Given the description of an element on the screen output the (x, y) to click on. 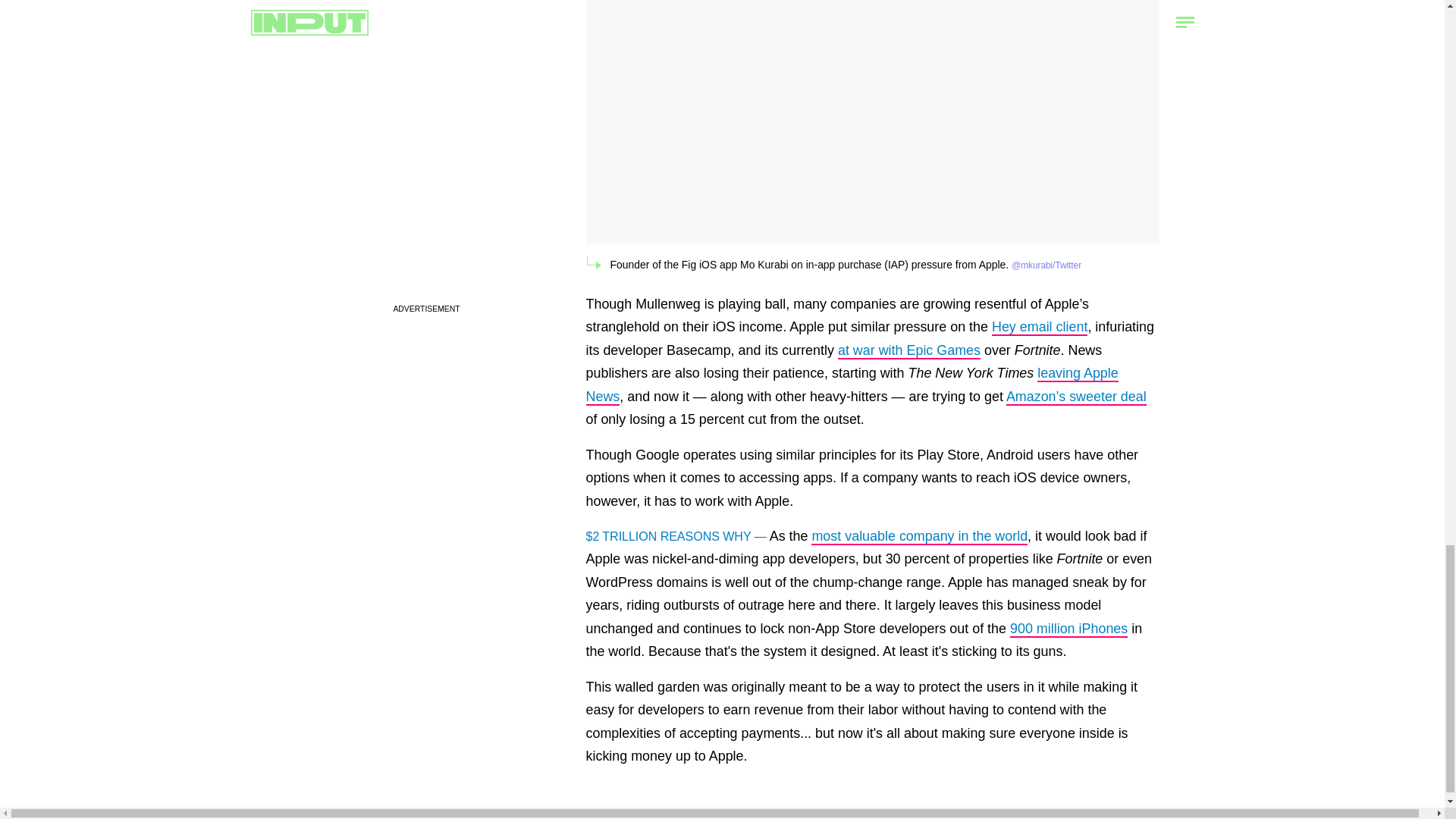
900 million iPhones (1068, 629)
most valuable company in the world (918, 536)
leaving Apple News (851, 384)
Hey email client (1039, 327)
at war with Epic Games (908, 351)
